Given the description of an element on the screen output the (x, y) to click on. 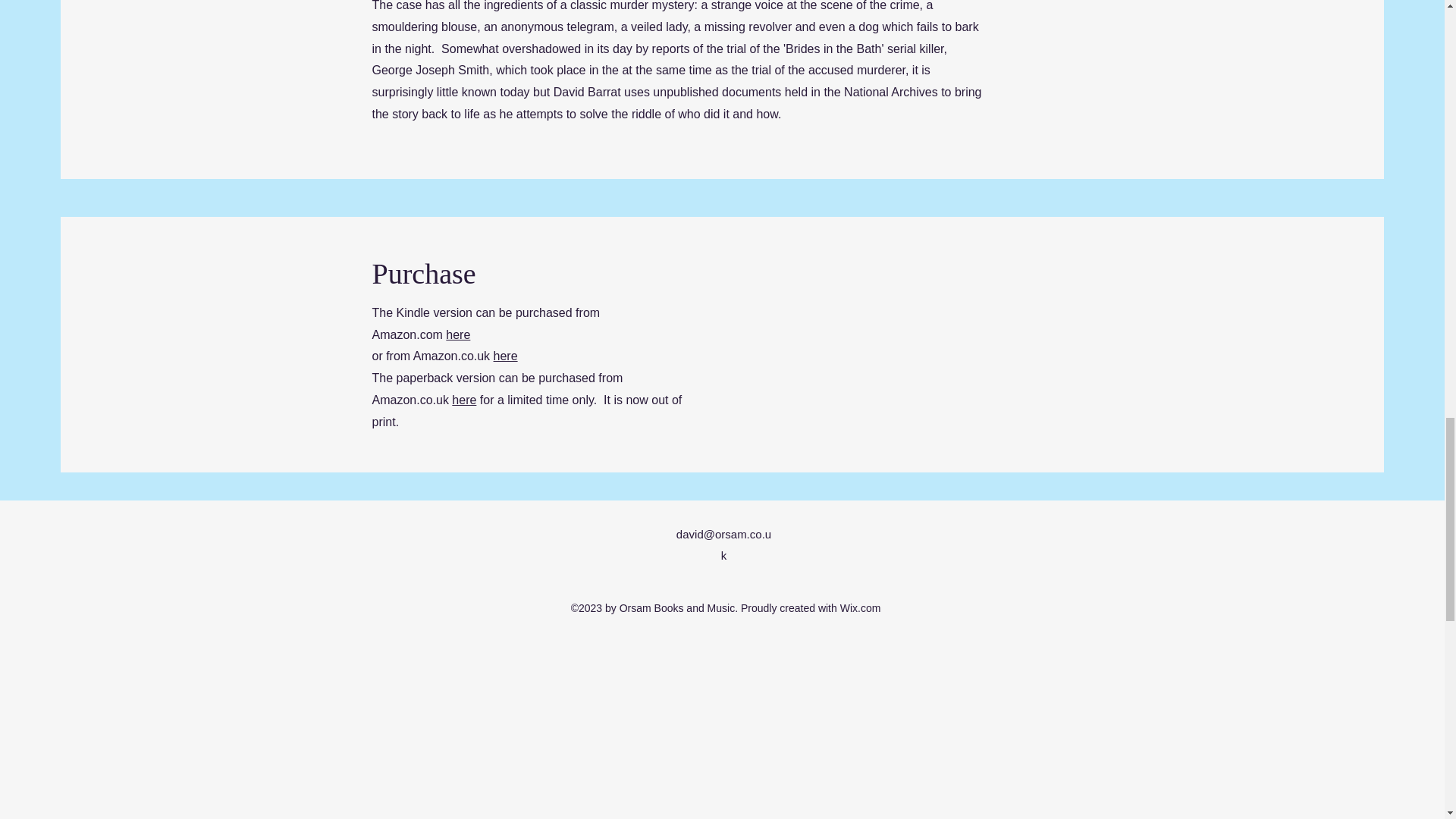
here (457, 334)
